Given the description of an element on the screen output the (x, y) to click on. 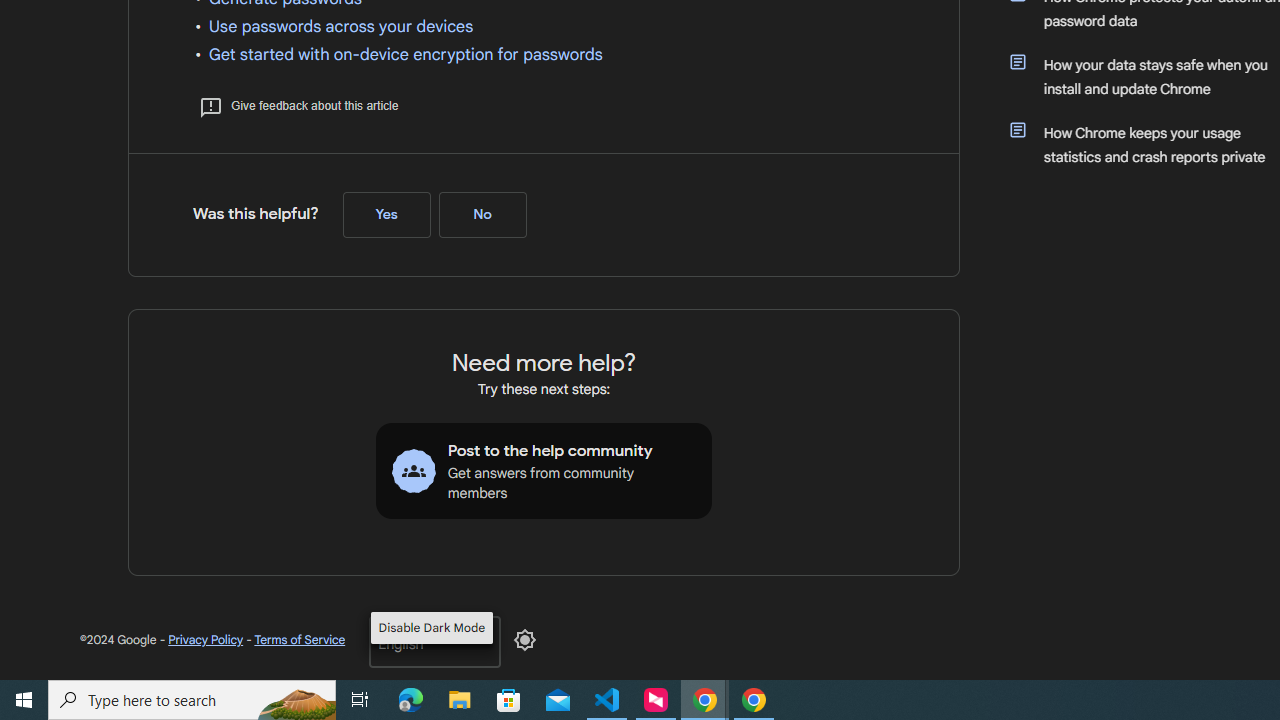
Disable Dark Mode (525, 639)
Privacy Policy (205, 639)
Give feedback about this article (298, 105)
Get started with on-device encryption for passwords (405, 54)
Yes (Was this helpful?) (386, 215)
Terms of Service (299, 639)
No (Was this helpful?) (482, 215)
Use passwords across your devices (340, 26)
